Given the description of an element on the screen output the (x, y) to click on. 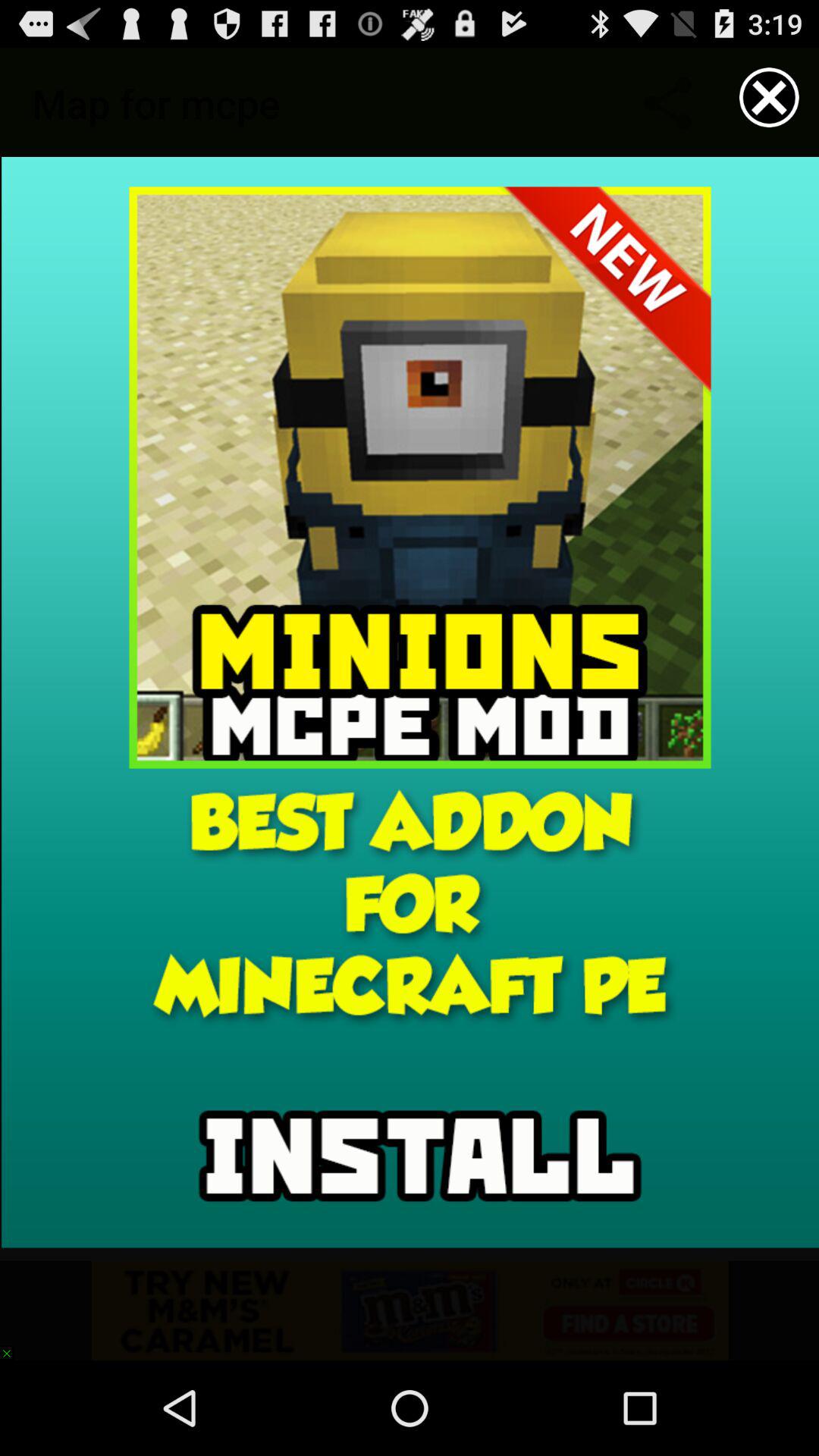
press the icon at the bottom left corner (14, 1346)
